Given the description of an element on the screen output the (x, y) to click on. 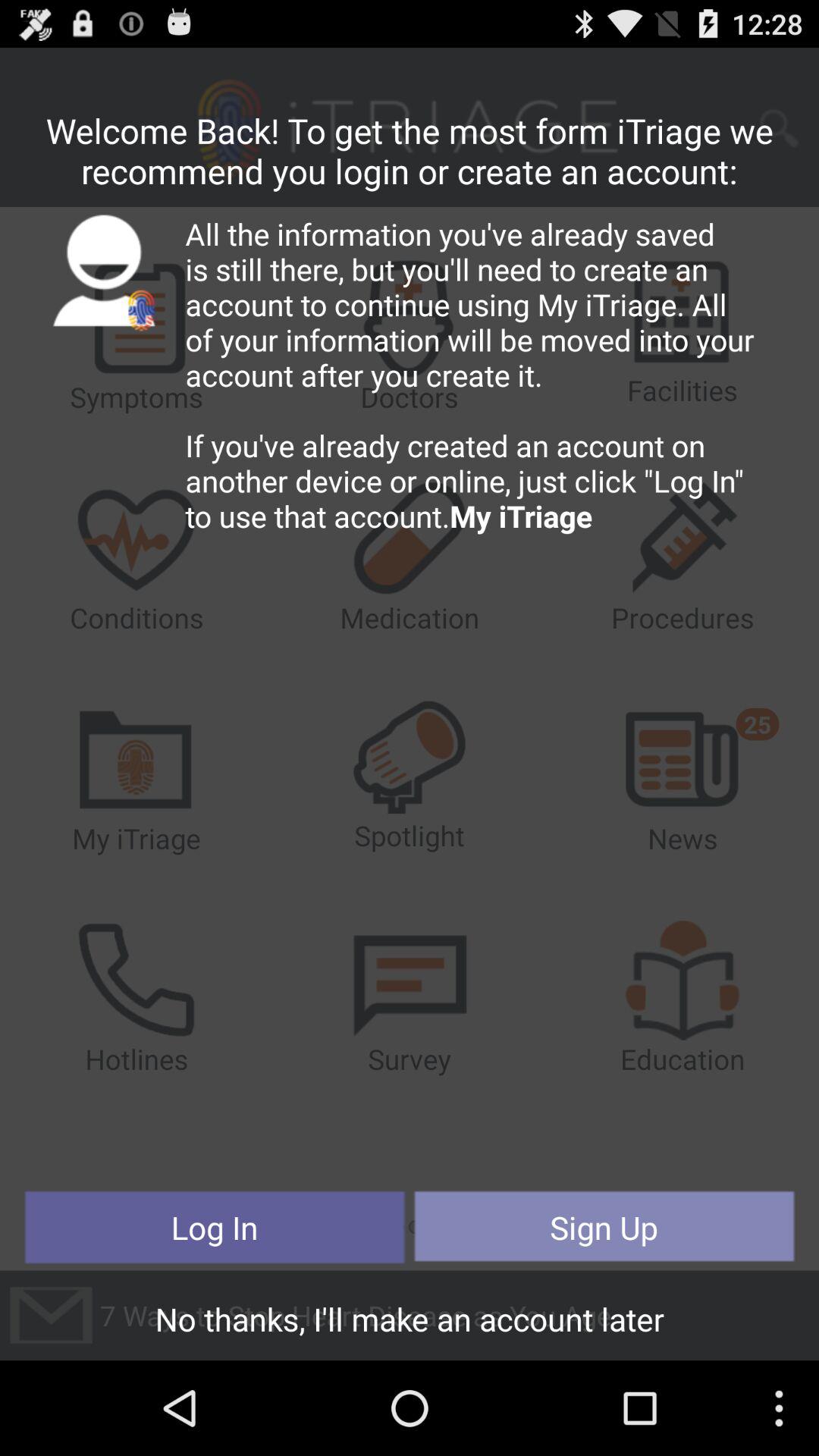
choose icon below all the information item (214, 1227)
